Given the description of an element on the screen output the (x, y) to click on. 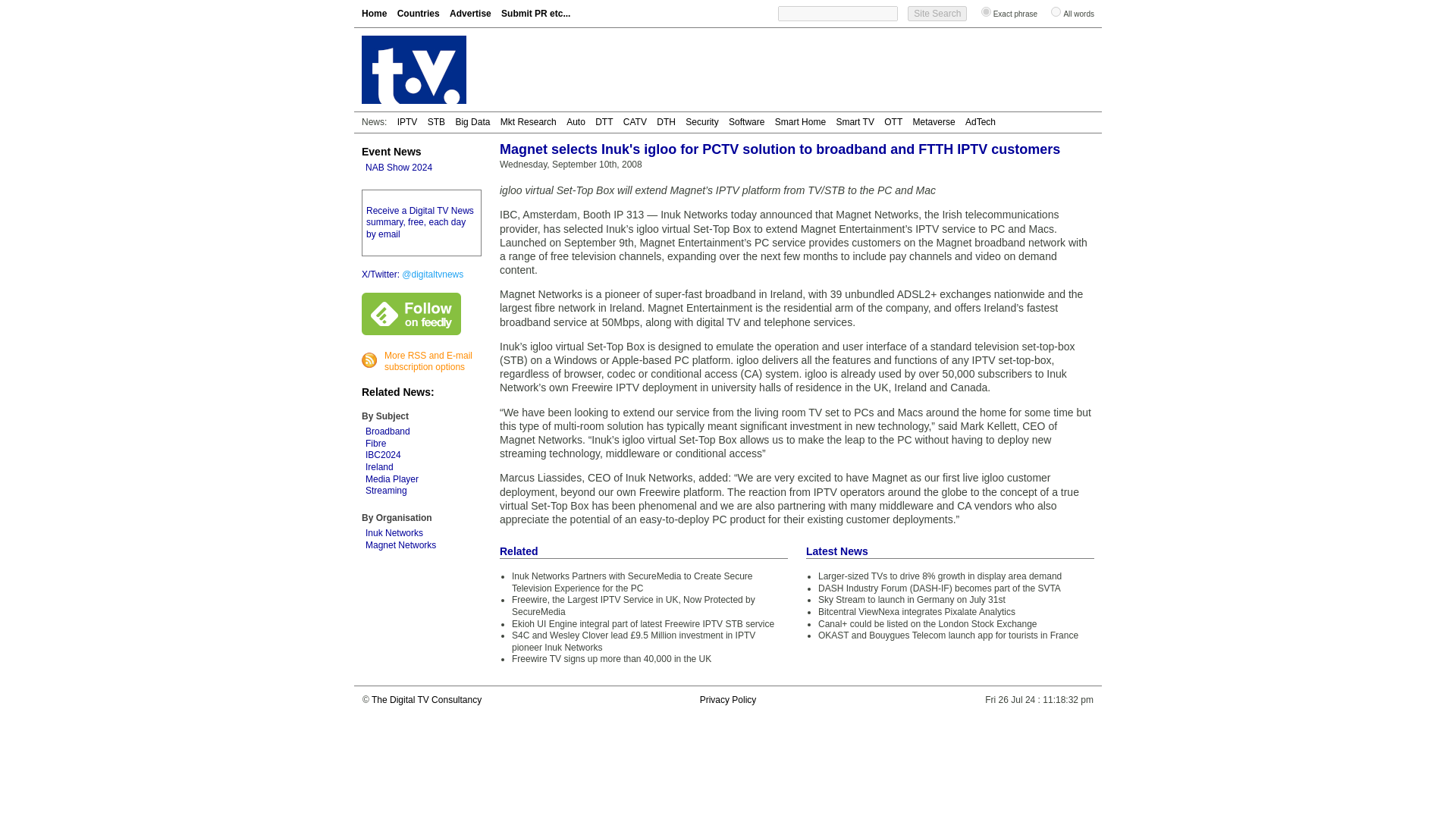
Advertisement (817, 70)
IPTV News (407, 122)
0 (1056, 11)
Software (746, 122)
Auto (575, 122)
Receive a Digital TV News summary, free, each day by email (420, 222)
Streaming (386, 490)
Big Data (471, 122)
Mkt Research (528, 122)
Digital TV News (374, 13)
Security (701, 122)
Submit PR etc... (535, 13)
IBC2024 (383, 454)
Smart TV (854, 122)
Countries (418, 13)
